Given the description of an element on the screen output the (x, y) to click on. 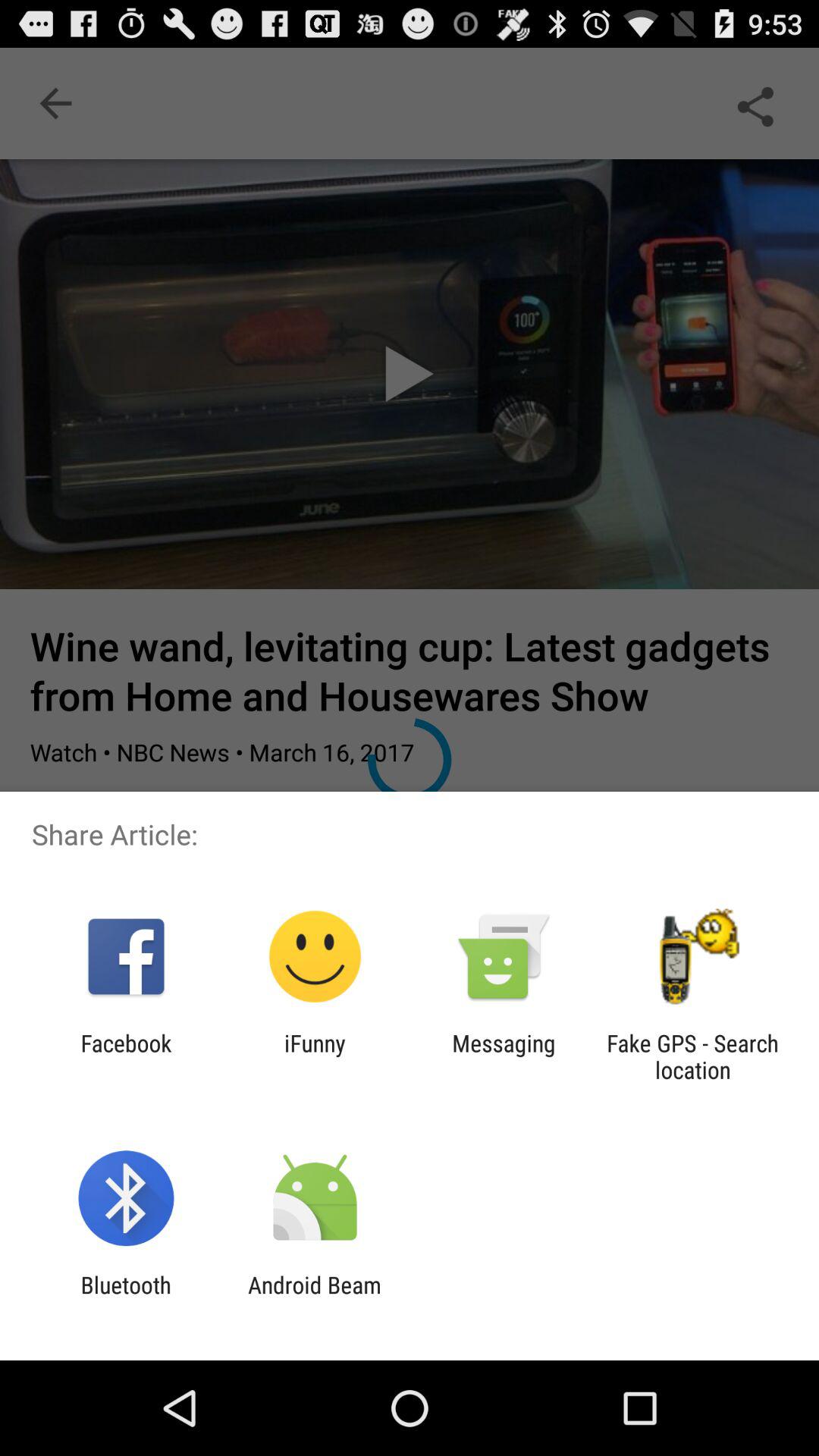
turn on app next to ifunny icon (503, 1056)
